Given the description of an element on the screen output the (x, y) to click on. 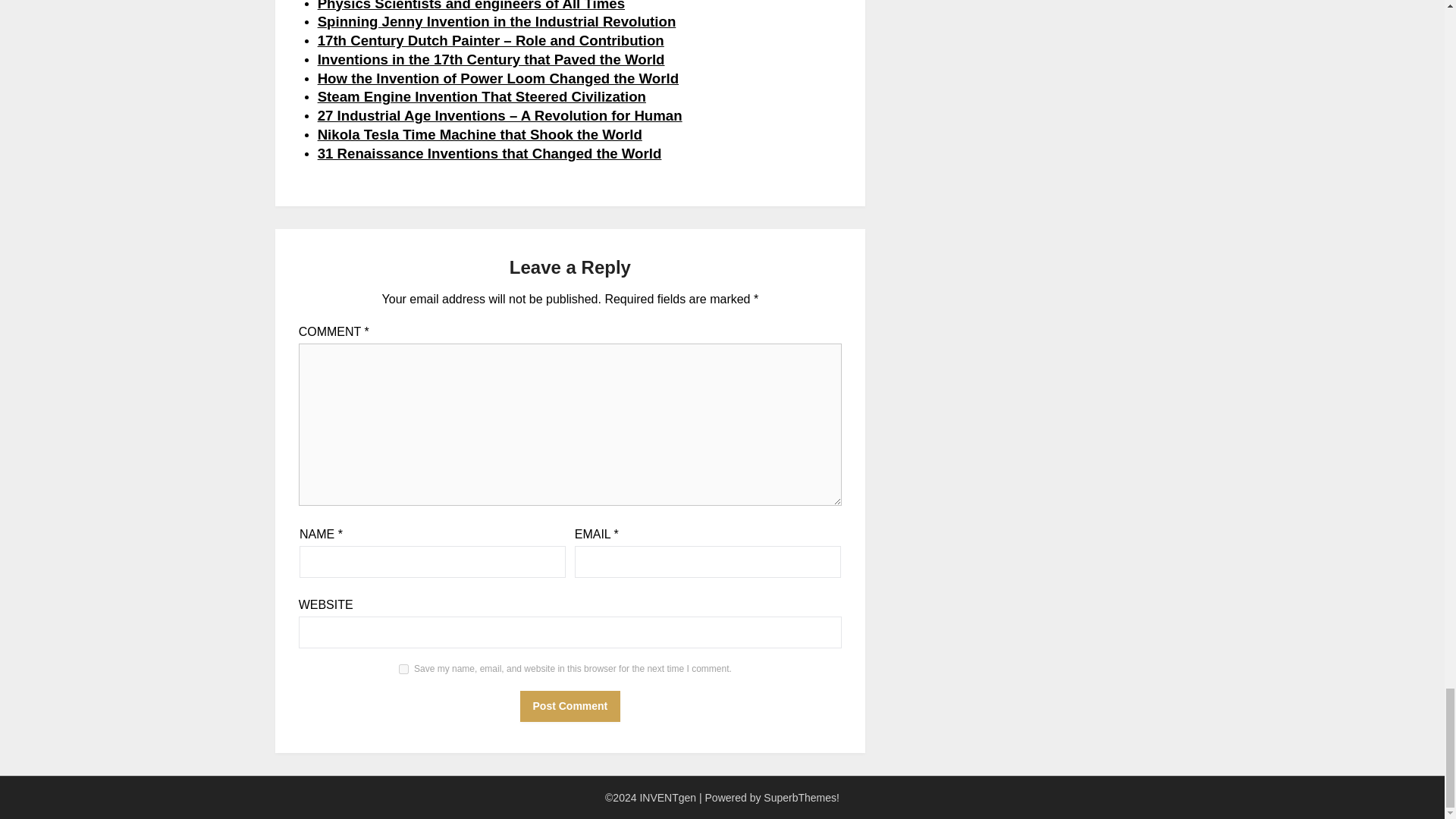
Spinning Jenny Invention in the Industrial Revolution (497, 21)
Inventions in the 17th Century that Paved the World (491, 59)
Physics Scientists and engineers of All Times (470, 5)
Steam Engine Invention That Steered Civilization (481, 96)
yes (403, 669)
Post Comment (570, 706)
How the Invention of Power Loom Changed the World (497, 78)
